Given the description of an element on the screen output the (x, y) to click on. 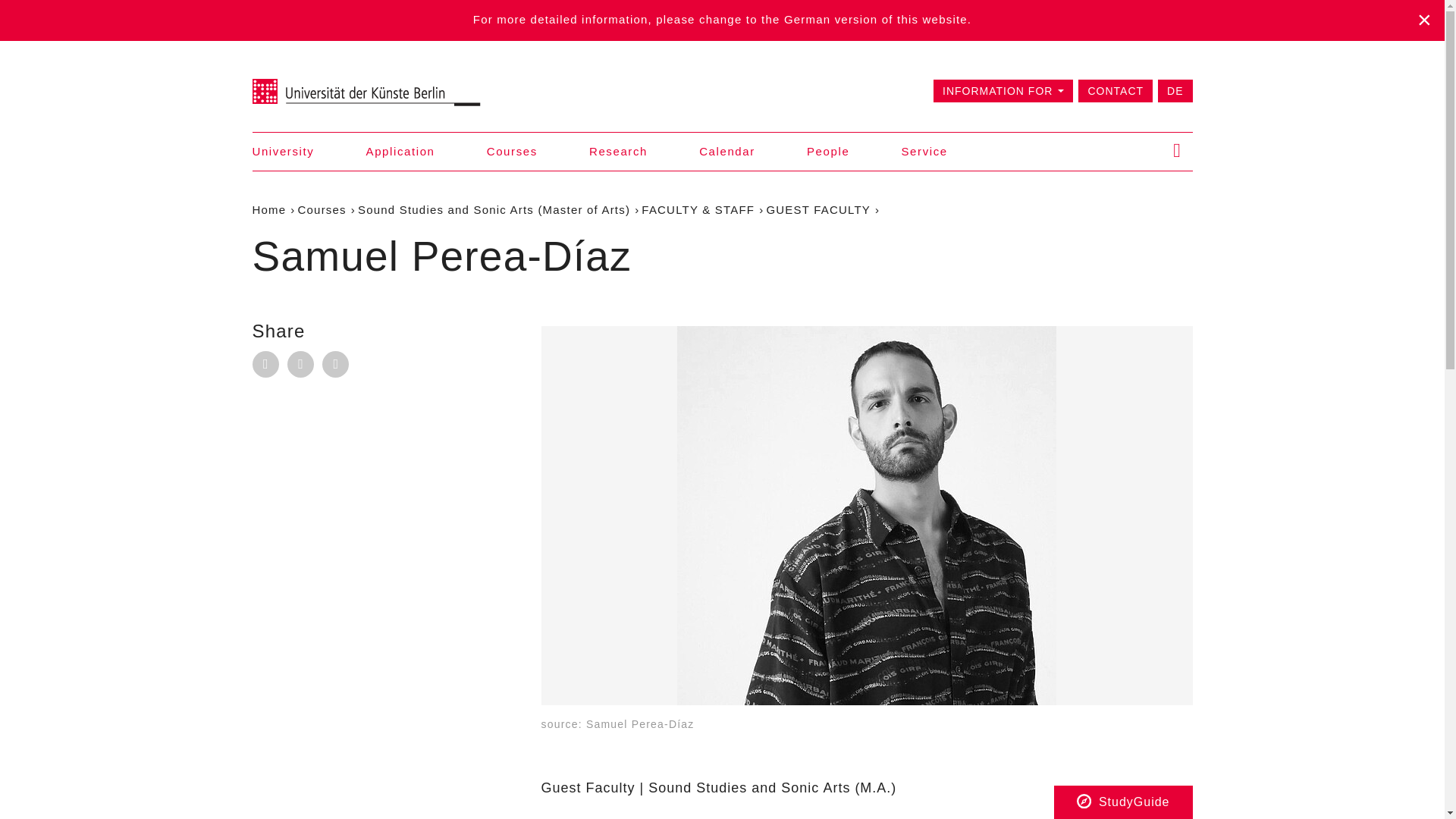
CONTACT (1115, 89)
Research (618, 150)
Home (268, 209)
People (827, 150)
Calendar (726, 150)
StudyGuide (1123, 802)
Courses (511, 150)
Deutsche Version (1174, 89)
Share on Twitter (335, 364)
Service (924, 150)
Application (400, 150)
Share via E-Mail (264, 364)
GUEST FACULTY (817, 209)
Share on Facebook (300, 364)
University (282, 150)
